Given the description of an element on the screen output the (x, y) to click on. 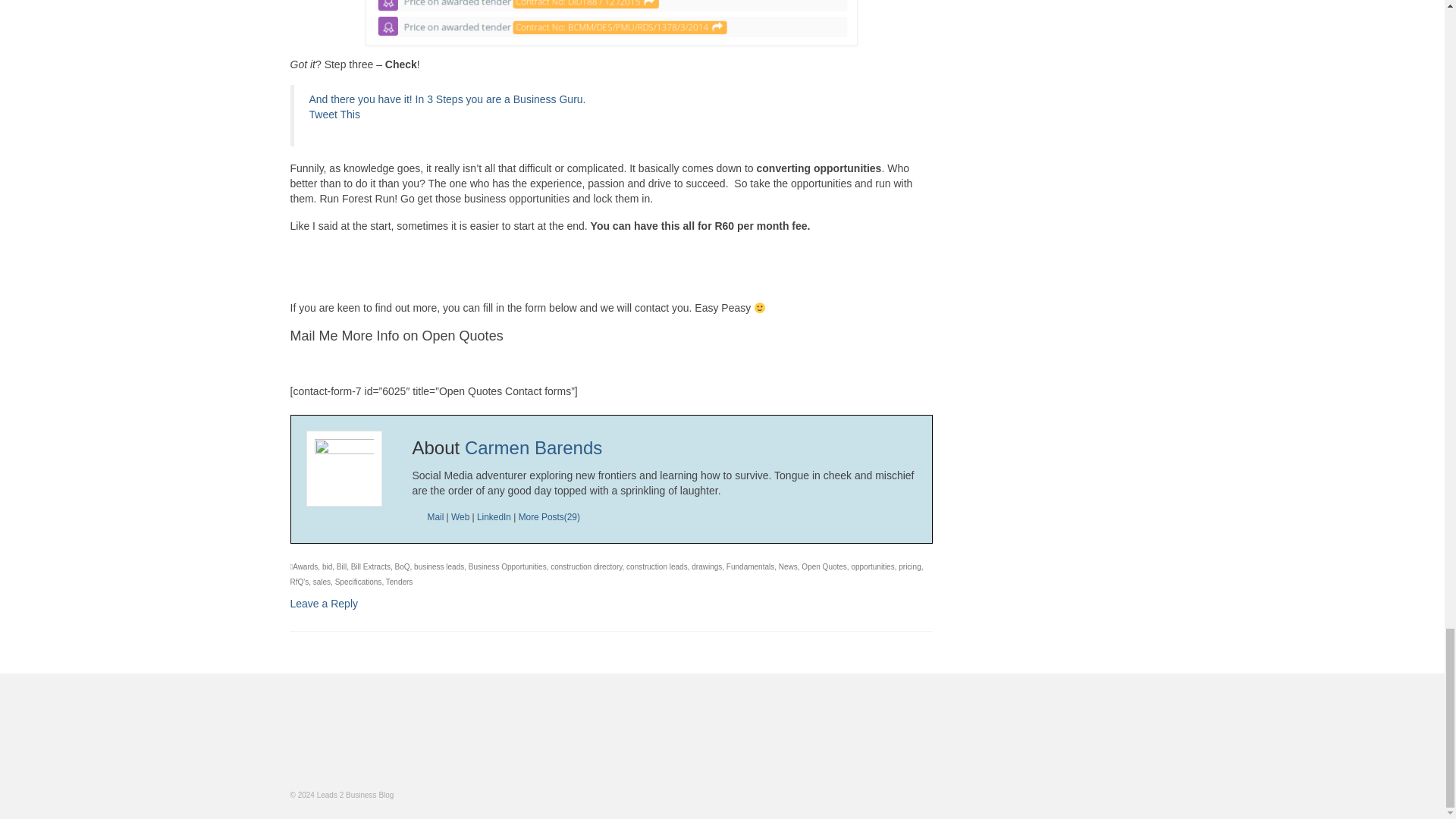
Carmen Barends On LinkedIn (494, 516)
And there you have it! In 3 Steps you are a Business Guru. (447, 99)
LinkedIn (494, 516)
Carmen Barends On The Web (459, 516)
Send Carmen Barends Mail (436, 516)
Mail (436, 516)
More Posts By Carmen Barends (548, 516)
Carmen Barends (533, 447)
Web (459, 516)
Carmen Barends (533, 447)
Tweet This (333, 114)
